Given the description of an element on the screen output the (x, y) to click on. 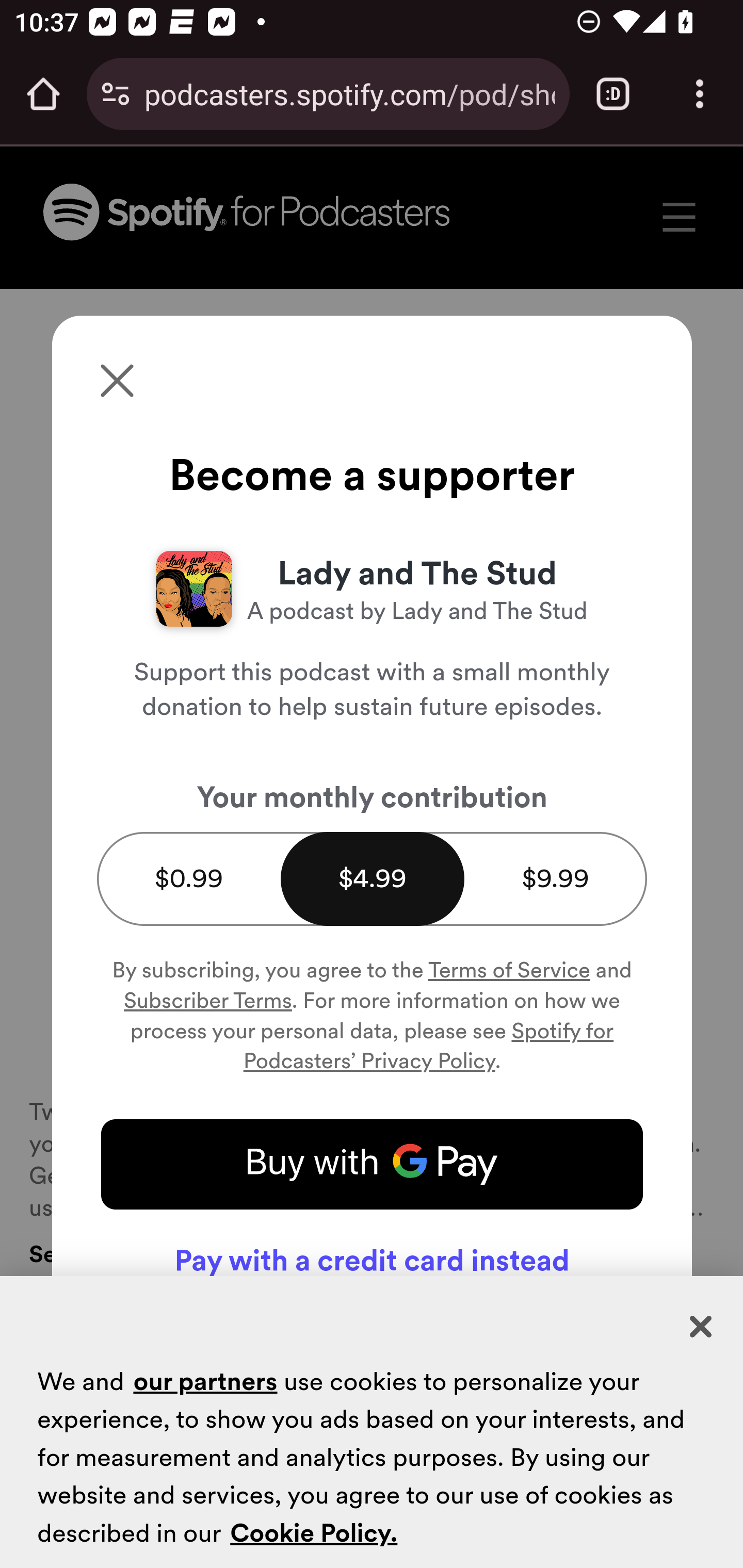
Open the home page (43, 93)
Connection is secure (115, 93)
Switch or close tabs (612, 93)
Customize and control Google Chrome (699, 93)
